Given the description of an element on the screen output the (x, y) to click on. 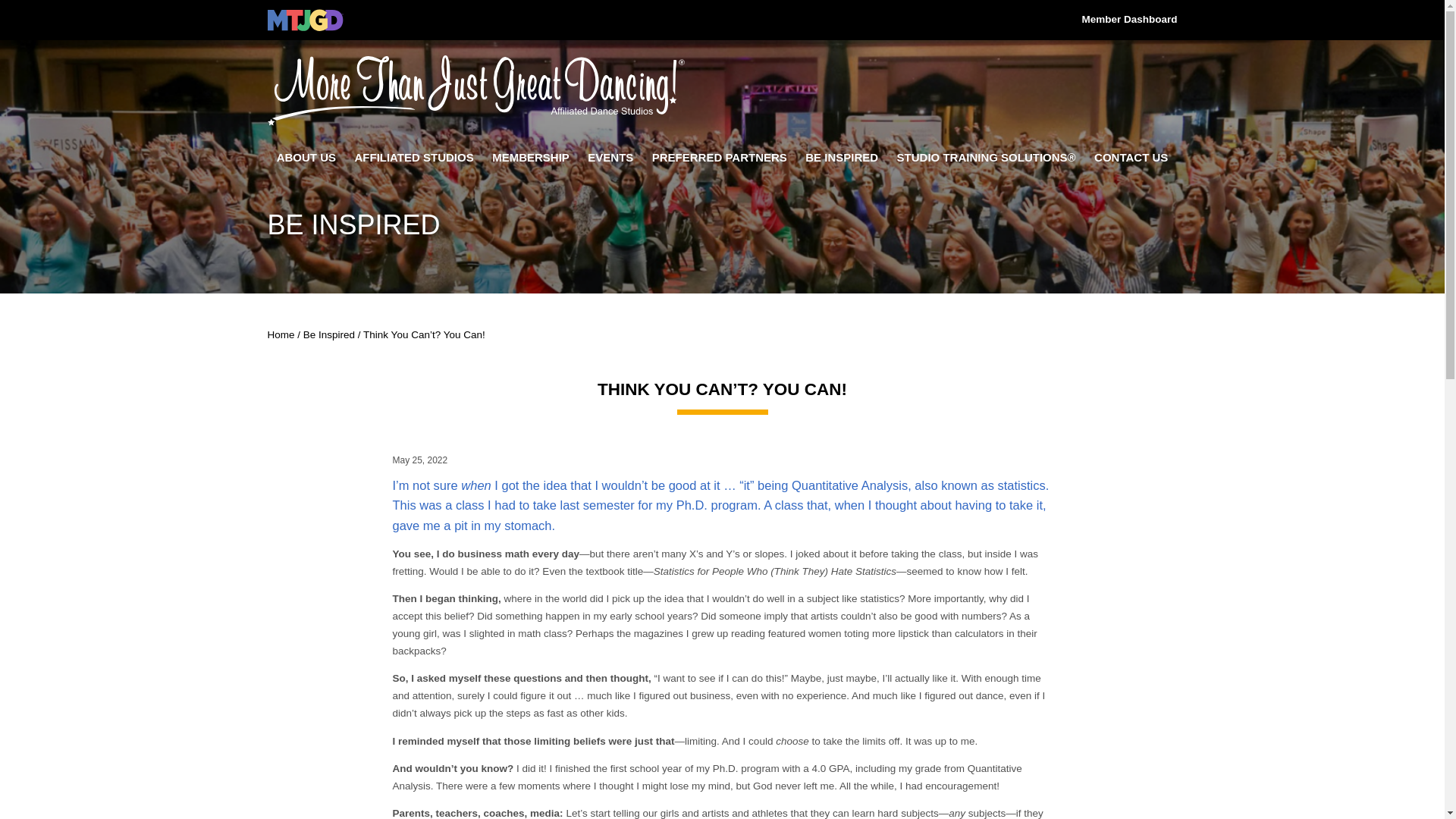
Be Inspired (328, 334)
BE INSPIRED (841, 160)
Member Dashboard (1128, 21)
CONTACT US (1130, 160)
ABOUT US (306, 160)
MEMBERSHIP (530, 160)
PREFERRED PARTNERS (719, 160)
EVENTS (610, 160)
Home (280, 334)
AFFILIATED STUDIOS (413, 160)
